Given the description of an element on the screen output the (x, y) to click on. 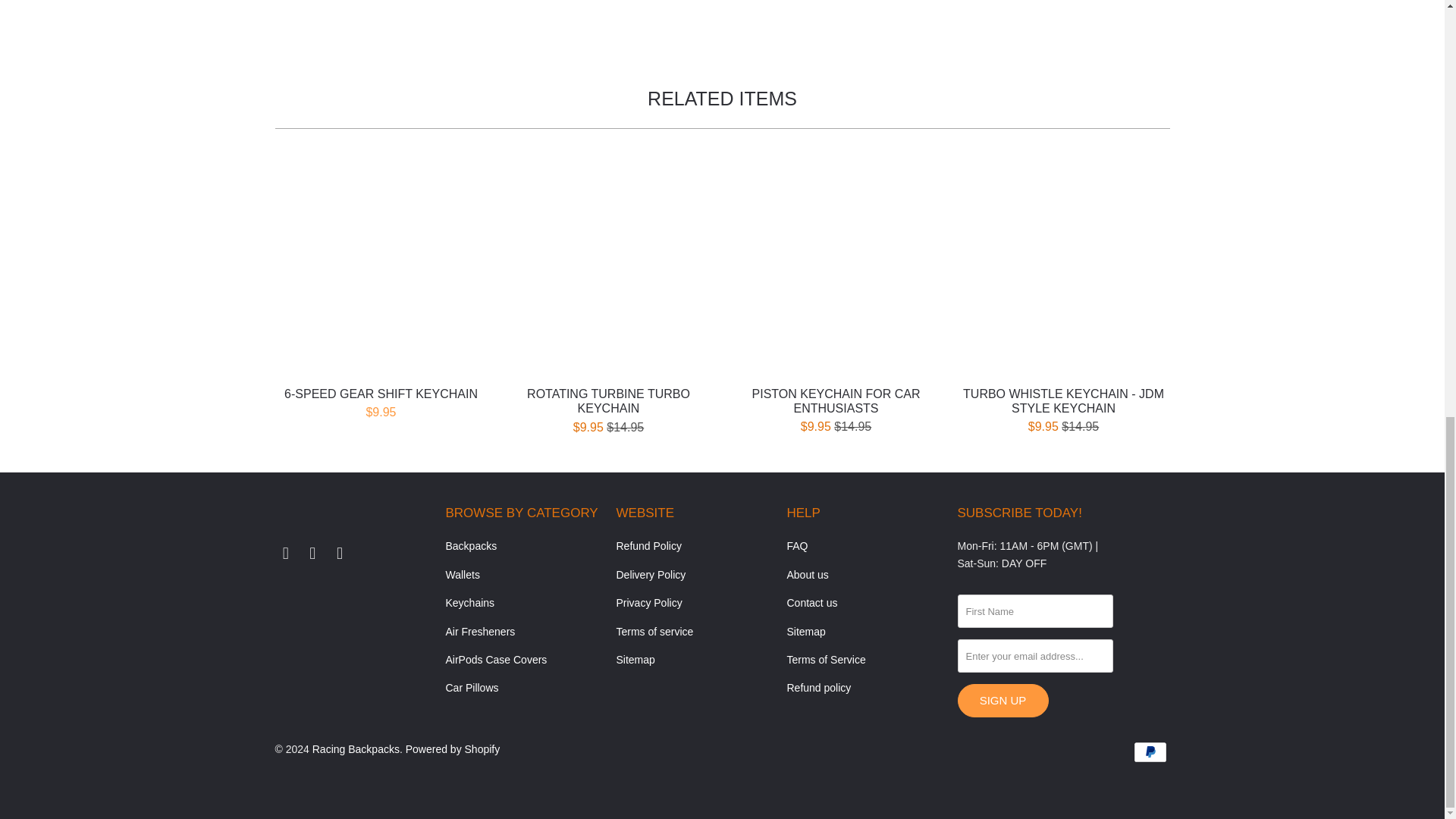
PayPal (1150, 752)
Sign Up (1002, 700)
Racing Backpacks on Instagram (312, 553)
Racing Backpacks on Facebook (286, 553)
Email Racing Backpacks (340, 553)
